Given the description of an element on the screen output the (x, y) to click on. 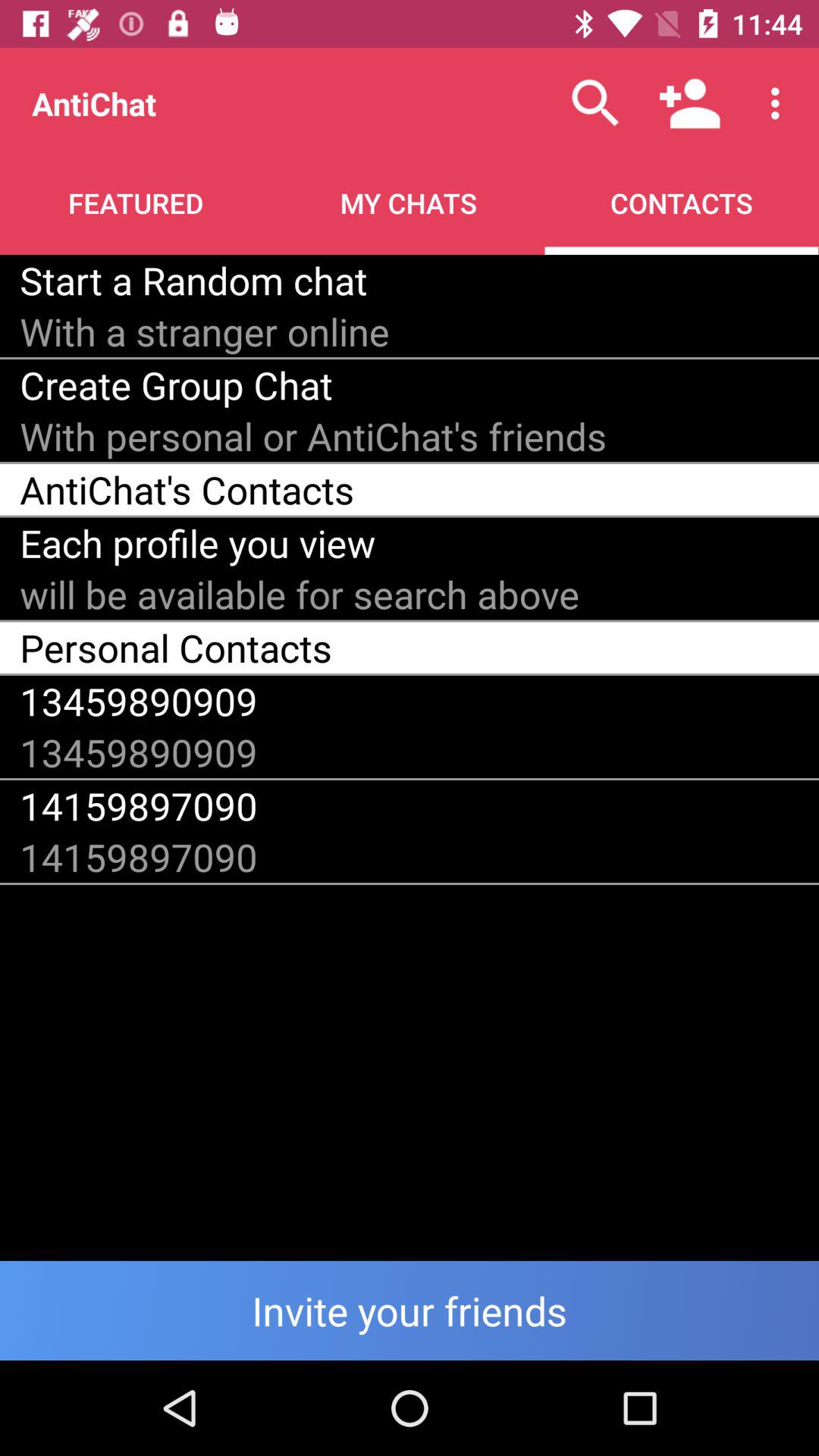
press the item above the create group chat (204, 331)
